Given the description of an element on the screen output the (x, y) to click on. 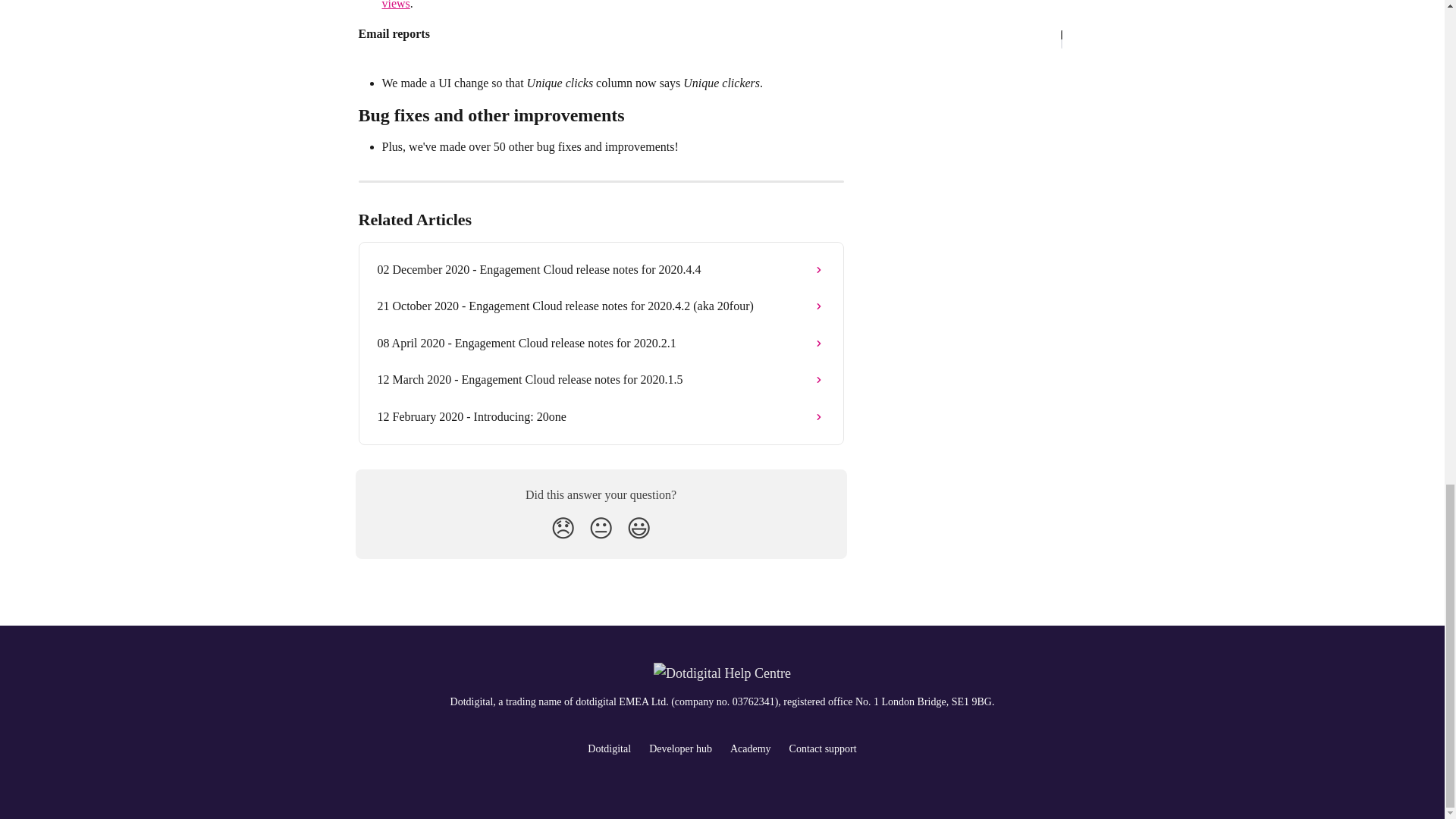
12 March 2020 - Engagement Cloud release notes for 2020.1.5 (601, 379)
use new chart and table views (602, 4)
Smiley (638, 528)
12 February 2020 - Introducing: 20one (601, 416)
08 April 2020 - Engagement Cloud release notes for 2020.2.1 (601, 343)
Disappointed (562, 528)
Neutral (600, 528)
